Given the description of an element on the screen output the (x, y) to click on. 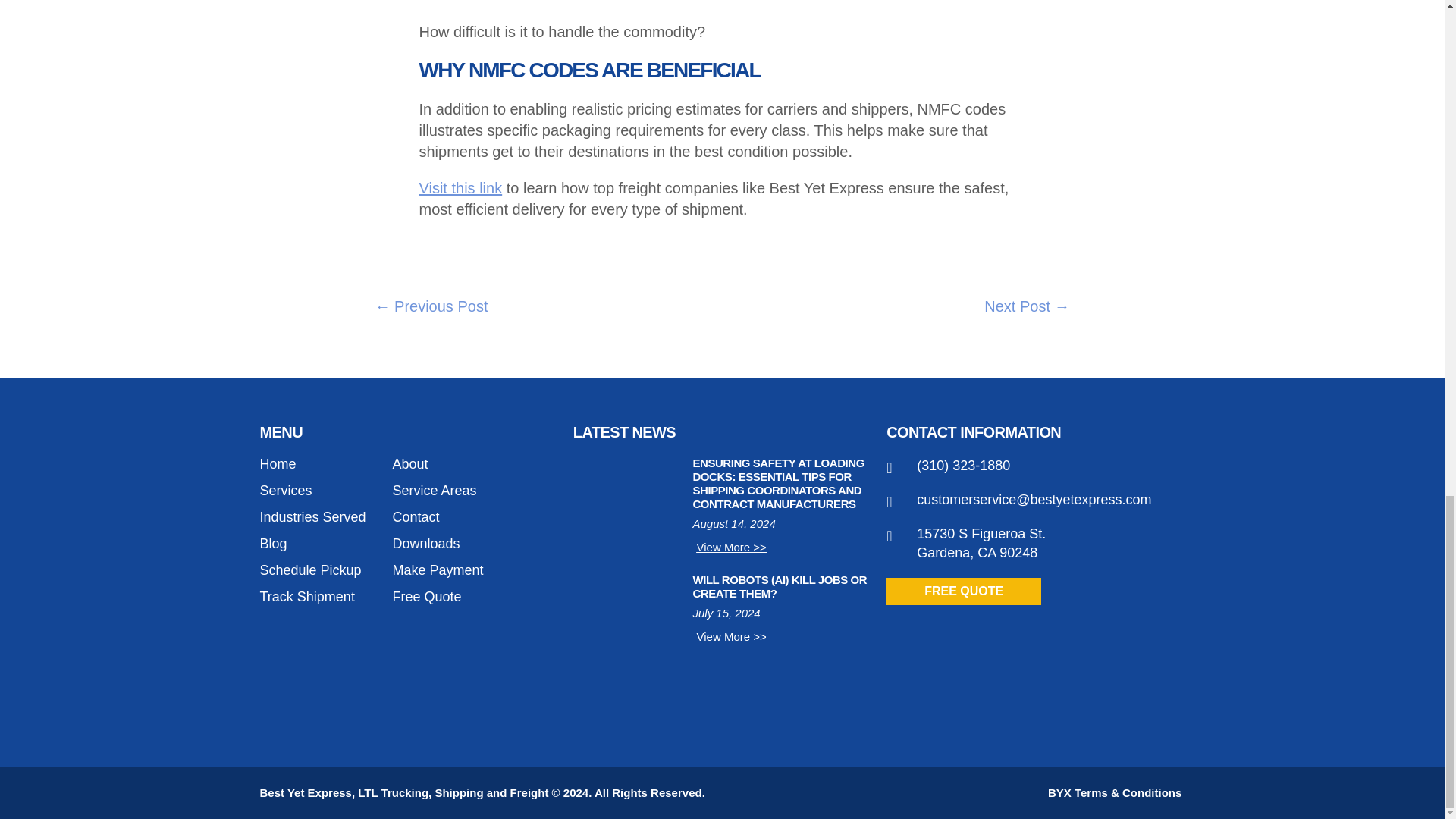
How Rainy Days Affects Shipping in Southern California (1026, 305)
How to Minimize the Impact of Rising Trucking Costs (430, 305)
